Given the description of an element on the screen output the (x, y) to click on. 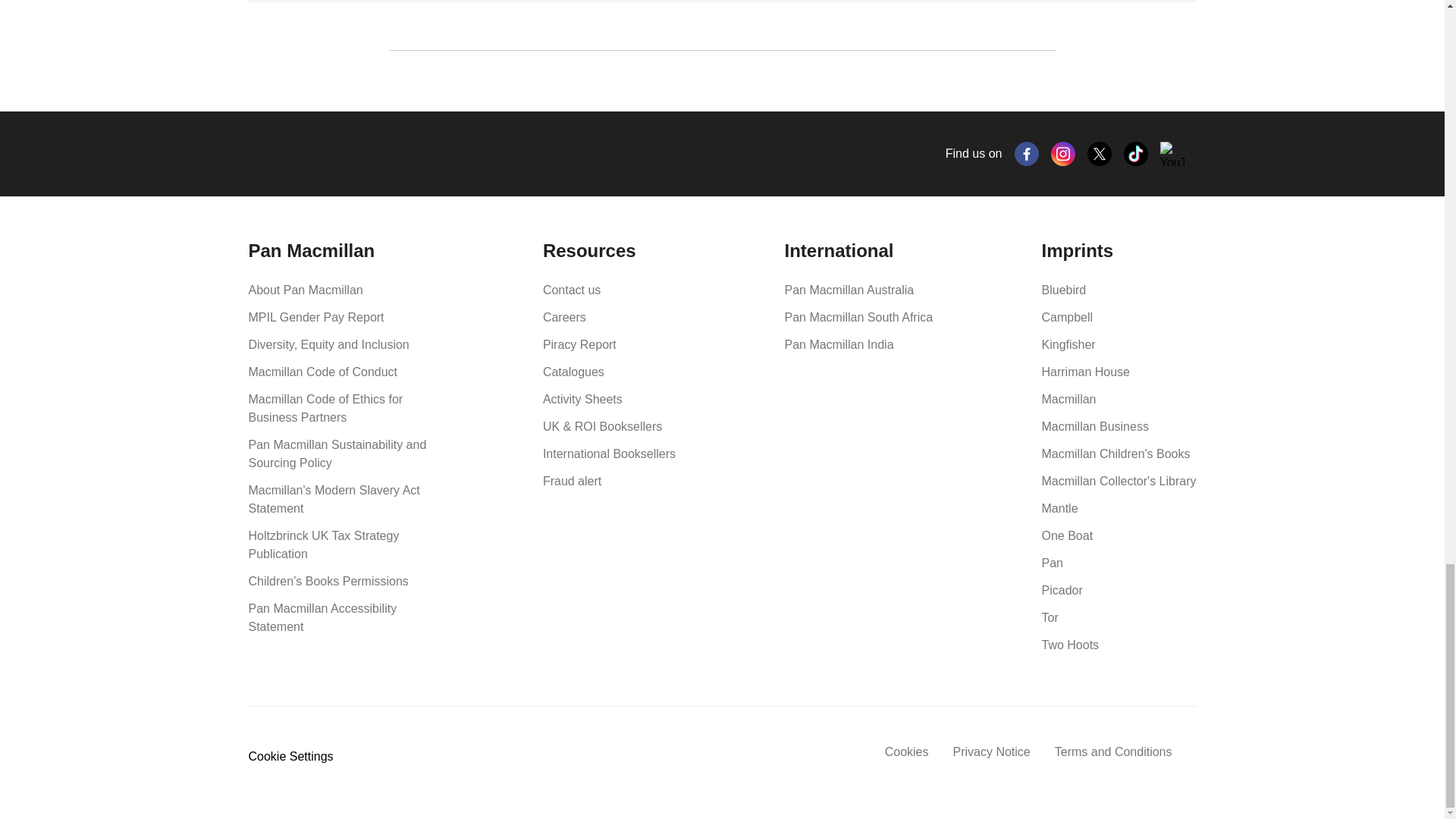
Instagram (1063, 153)
YouTube (1172, 153)
Facebook (1026, 153)
TikTok (1136, 153)
